Given the description of an element on the screen output the (x, y) to click on. 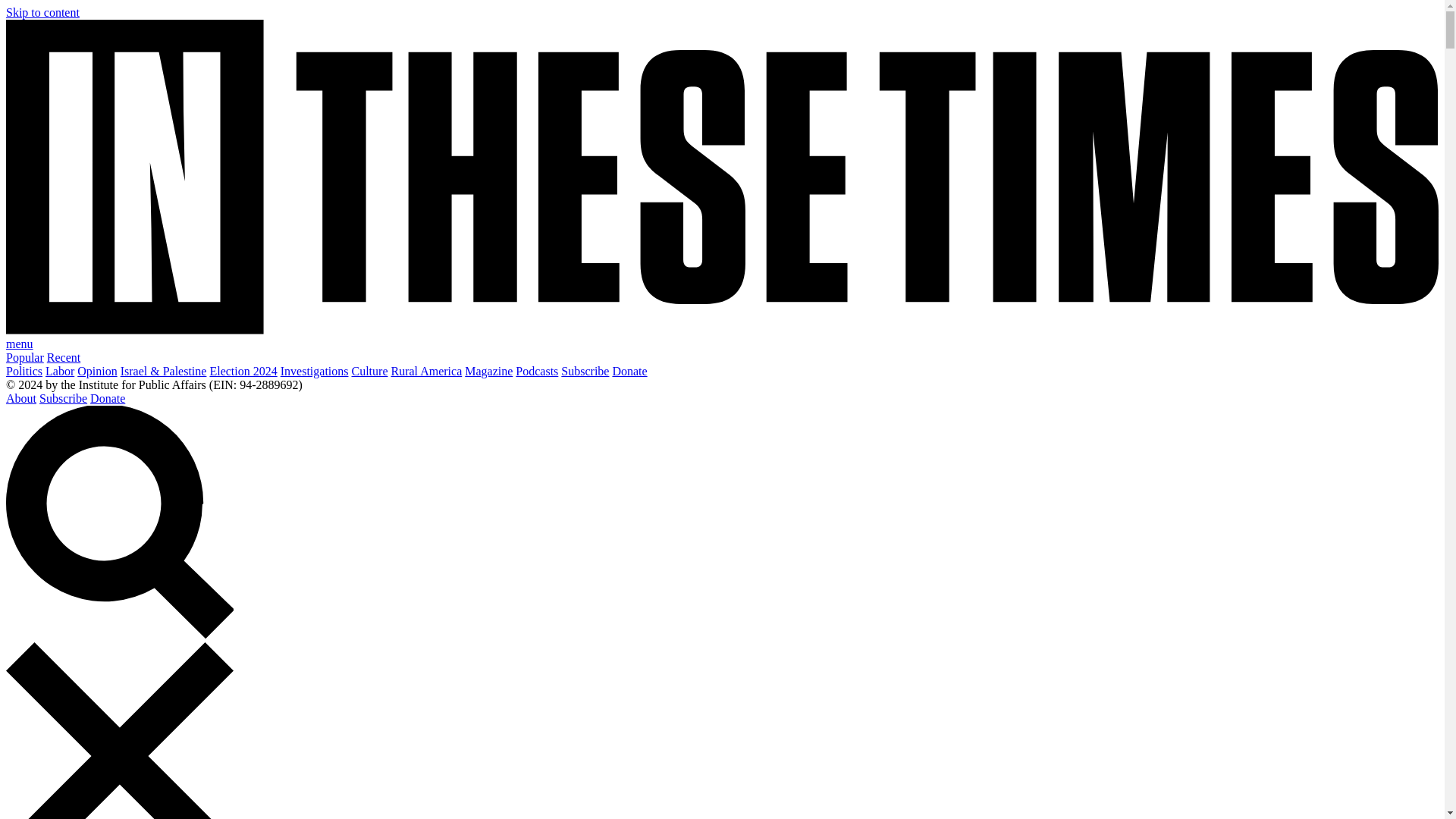
Investigations (315, 370)
Subscribe (63, 398)
Skip to content (42, 11)
Politics (23, 370)
About (20, 398)
Culture (370, 370)
Popular (24, 357)
Subscribe (584, 370)
Donate (628, 370)
search (118, 522)
